Given the description of an element on the screen output the (x, y) to click on. 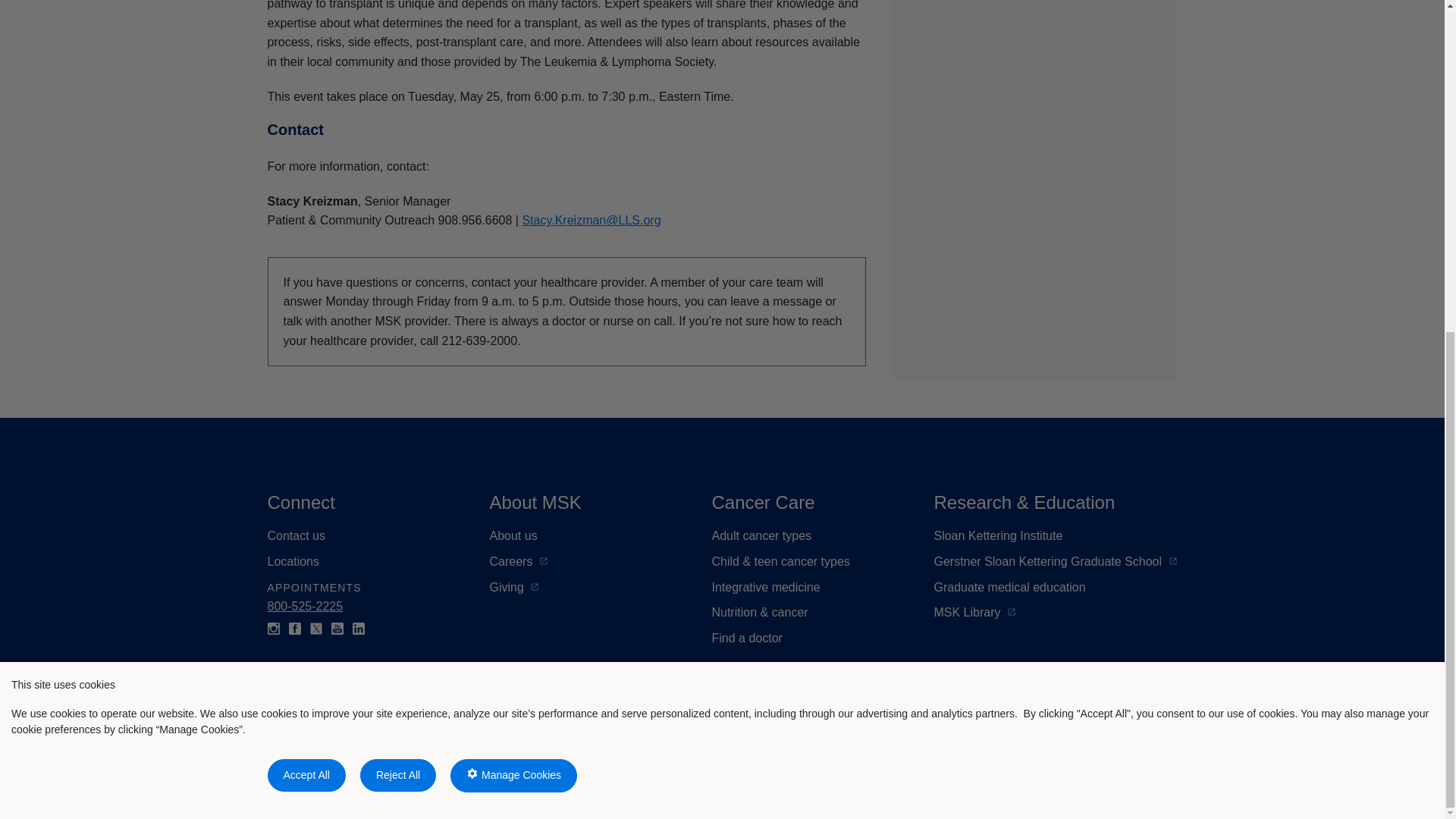
Memorial Sloan Kettering Cancer Center (409, 751)
Manage Cookies (512, 223)
Reject All (397, 223)
Accept All (305, 223)
